Given the description of an element on the screen output the (x, y) to click on. 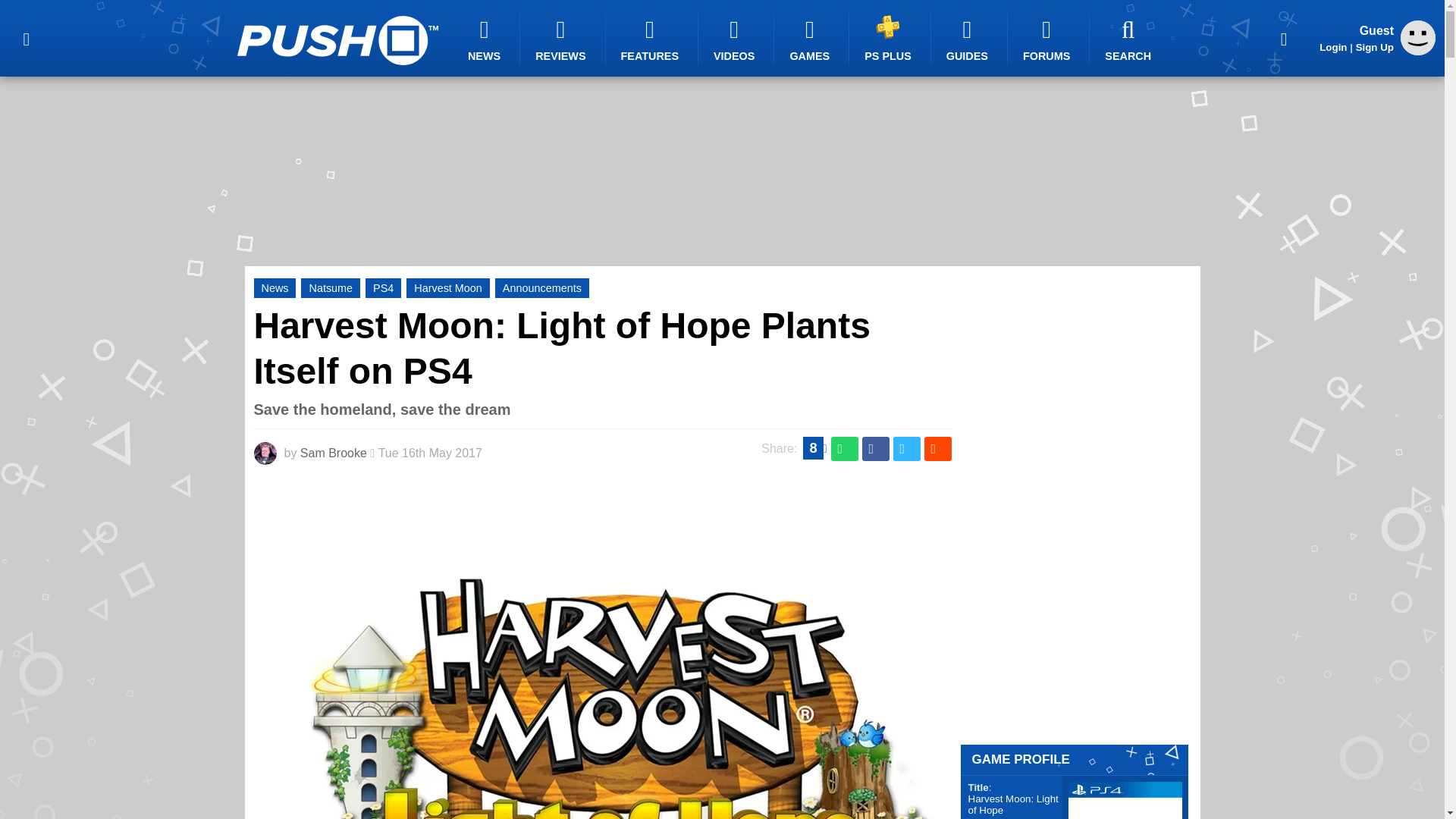
Announcements (542, 288)
Push Square (336, 40)
Login (1332, 47)
Guest (1417, 51)
PS PLUS (889, 38)
Natsume (330, 288)
Menu (26, 37)
GAMES (811, 39)
FORUMS (1048, 39)
Share This Page (1283, 37)
NEWS (485, 39)
REVIEWS (562, 39)
Sam Brooke (332, 452)
VIDEOS (736, 39)
Push Square (336, 40)
